Given the description of an element on the screen output the (x, y) to click on. 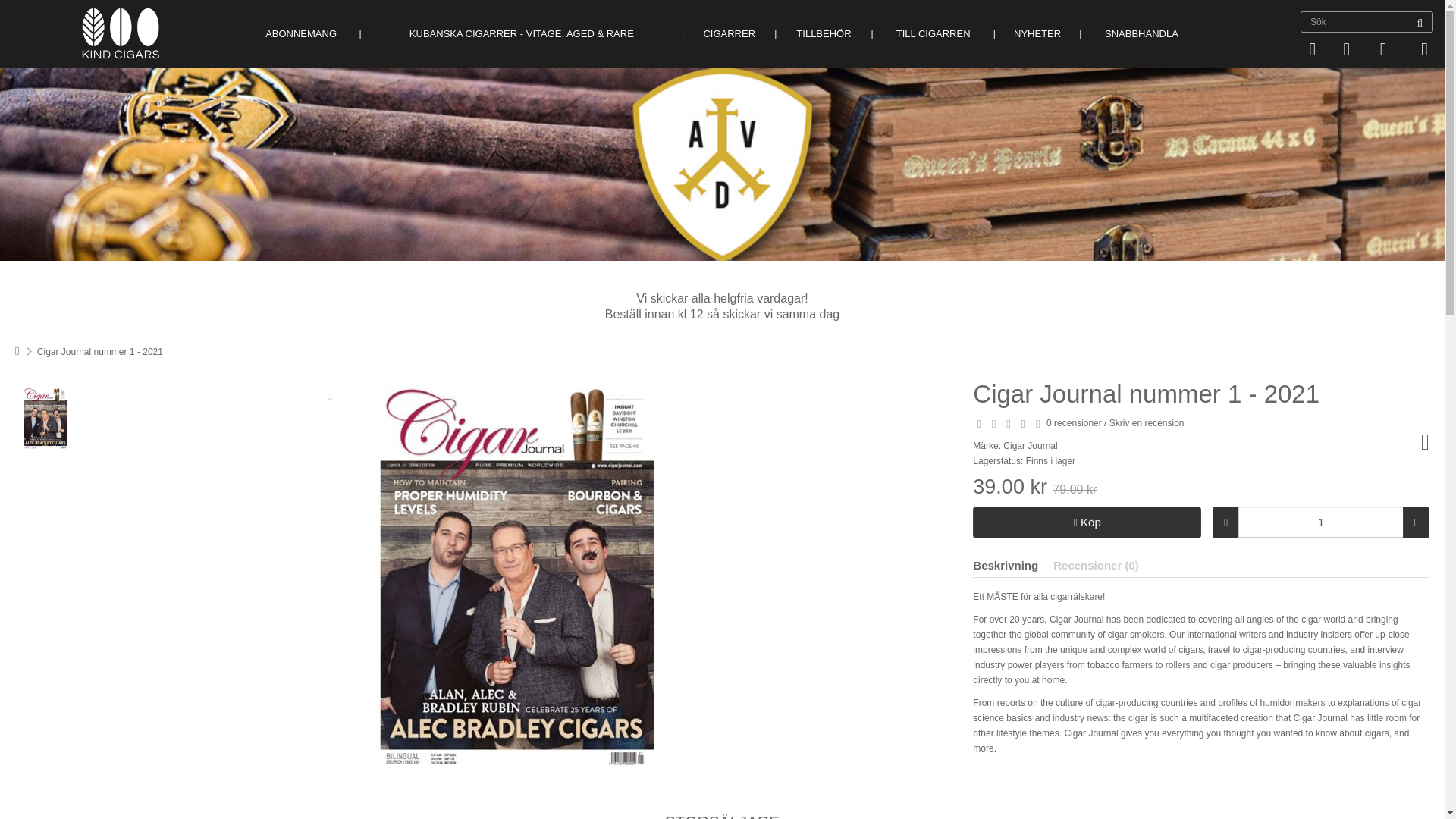
Kind Cigars (120, 33)
Konto (1345, 49)
Visa kundvagn (1312, 49)
CIGARRER (729, 33)
TILL CIGARREN (932, 33)
ABONNEMANG (301, 33)
1 (1321, 521)
SNABBHANDLA (1141, 33)
NYHETER (1037, 33)
